Given the description of an element on the screen output the (x, y) to click on. 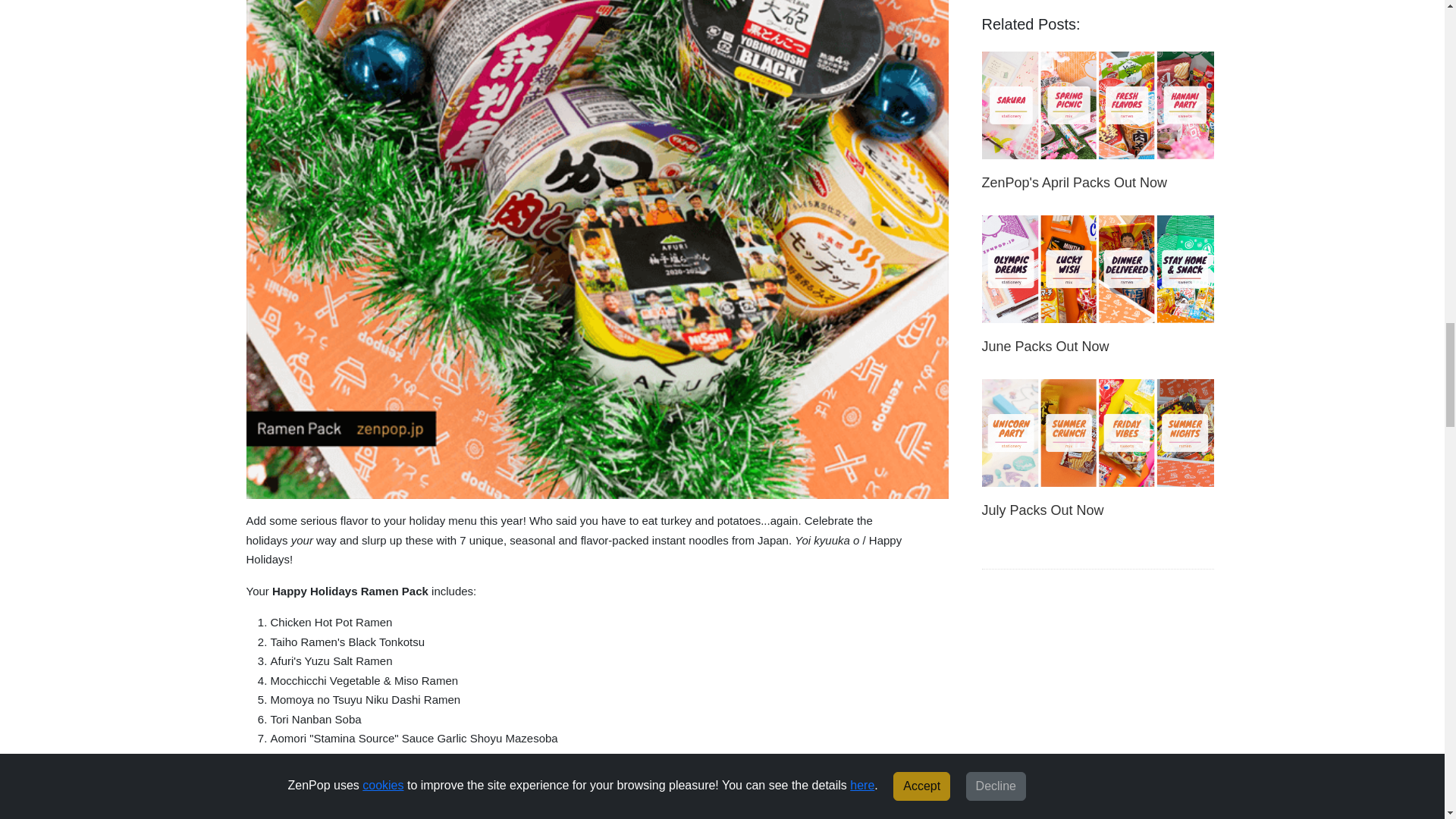
ZenPop's Japanese Ramen Subscription Box (596, 805)
